Given the description of an element on the screen output the (x, y) to click on. 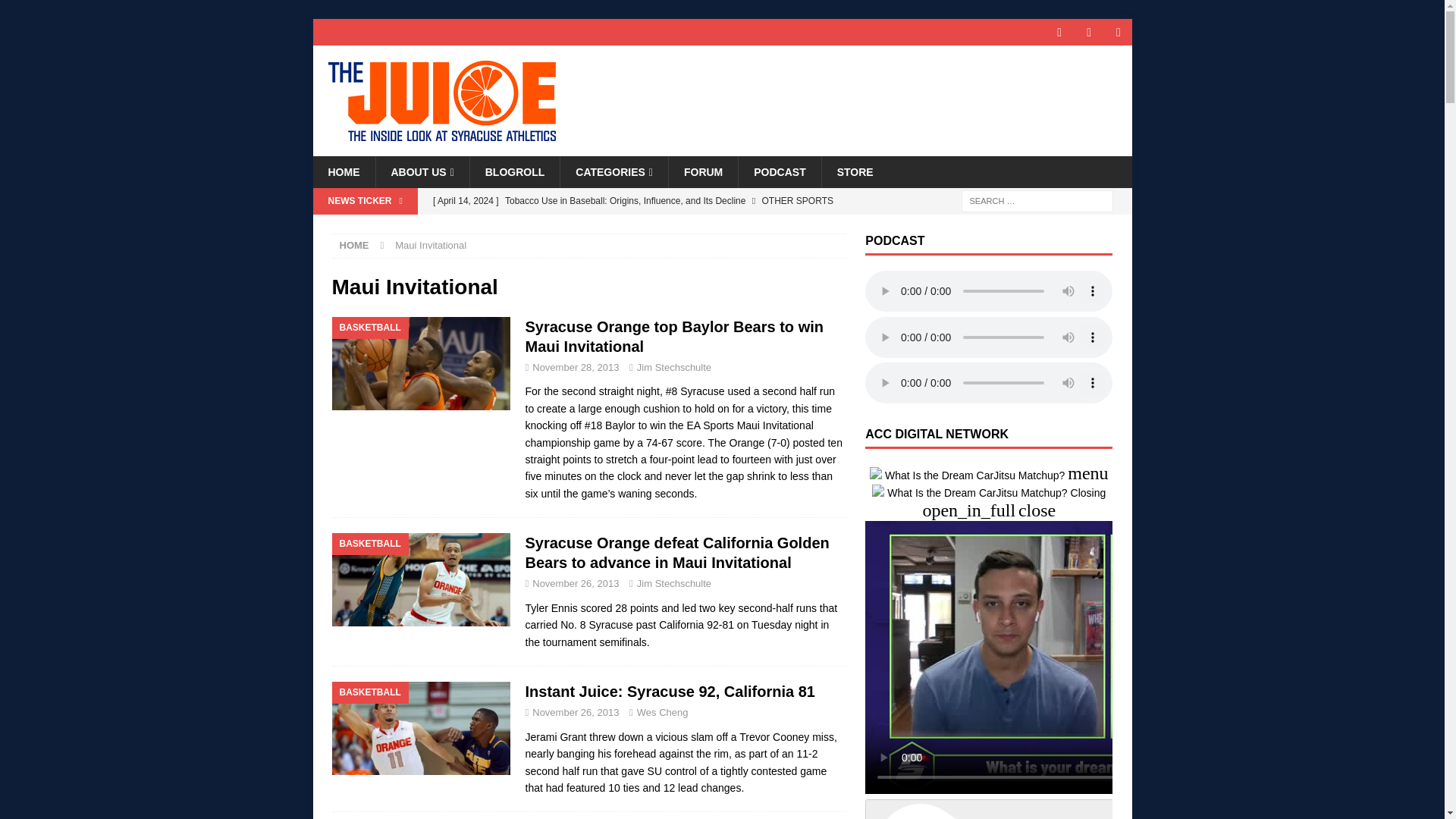
Instant Juice: Syracuse 92, California 81 (668, 691)
Advertisement (868, 94)
Syracuse Orange top Baylor Bears to win Maui Invitational (673, 336)
Search (56, 11)
Tobacco Use in Baseball: Origins, Influence, and Its Decline (634, 200)
PODCAST (779, 172)
November 28, 2013 (575, 367)
HOME (354, 244)
STORE (854, 172)
